Given the description of an element on the screen output the (x, y) to click on. 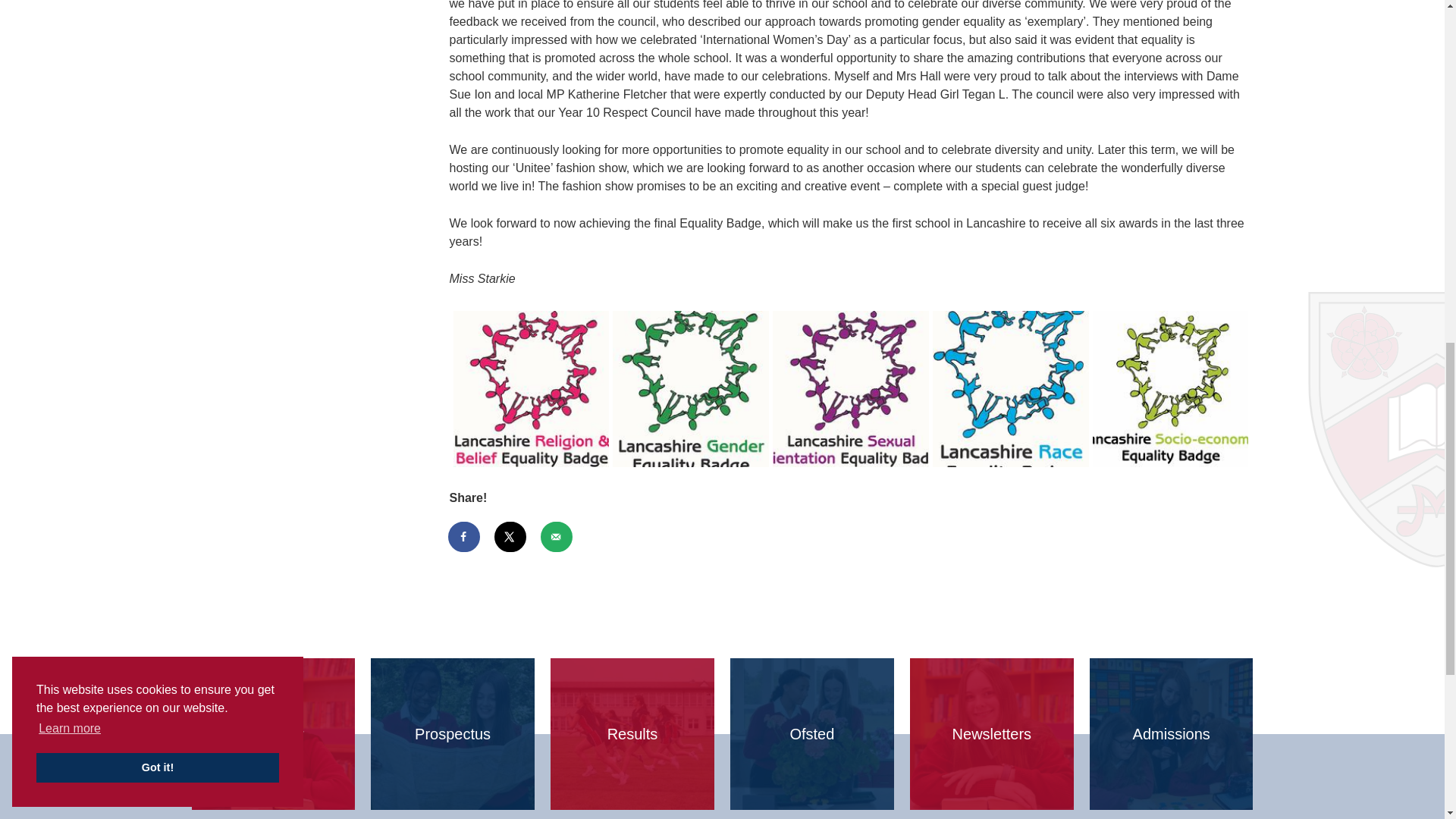
Send over email (556, 536)
Share on X (510, 536)
Share on Facebook (463, 536)
